Given the description of an element on the screen output the (x, y) to click on. 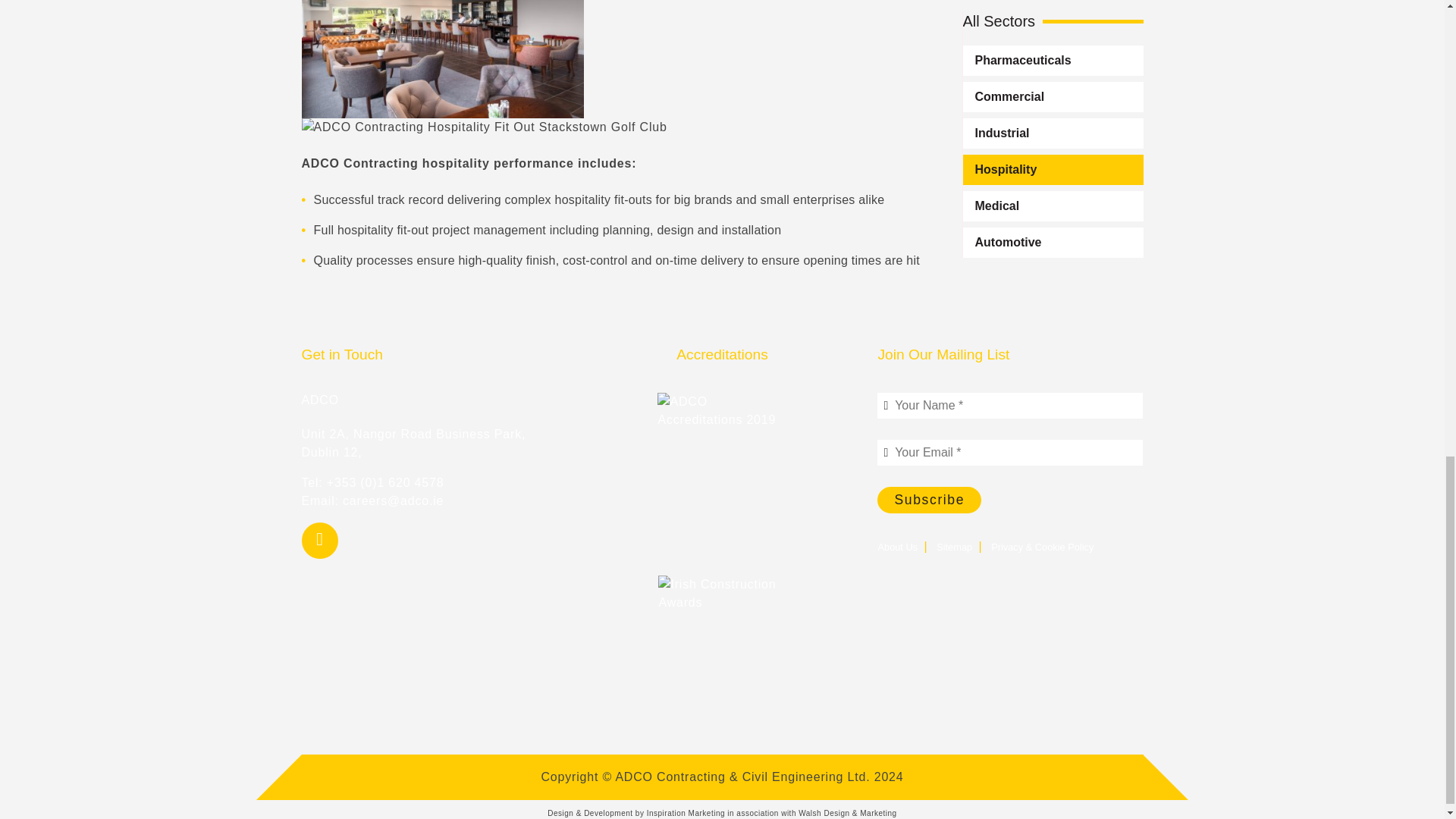
Subscribe (929, 499)
